Given the description of an element on the screen output the (x, y) to click on. 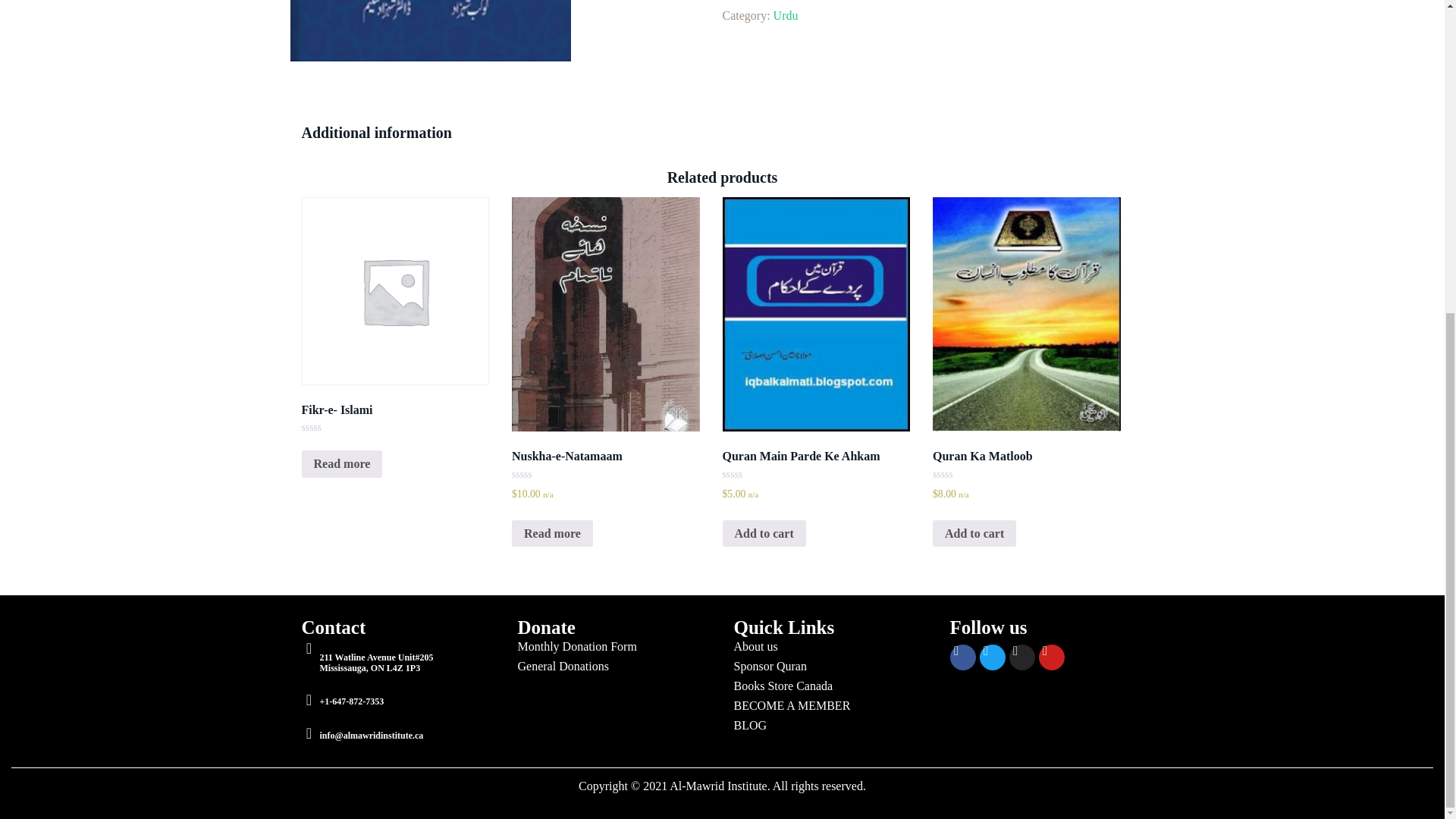
Piaghambar-insaniyat-ke-aqlaq-wa-aadat.jpg (429, 31)
